Given the description of an element on the screen output the (x, y) to click on. 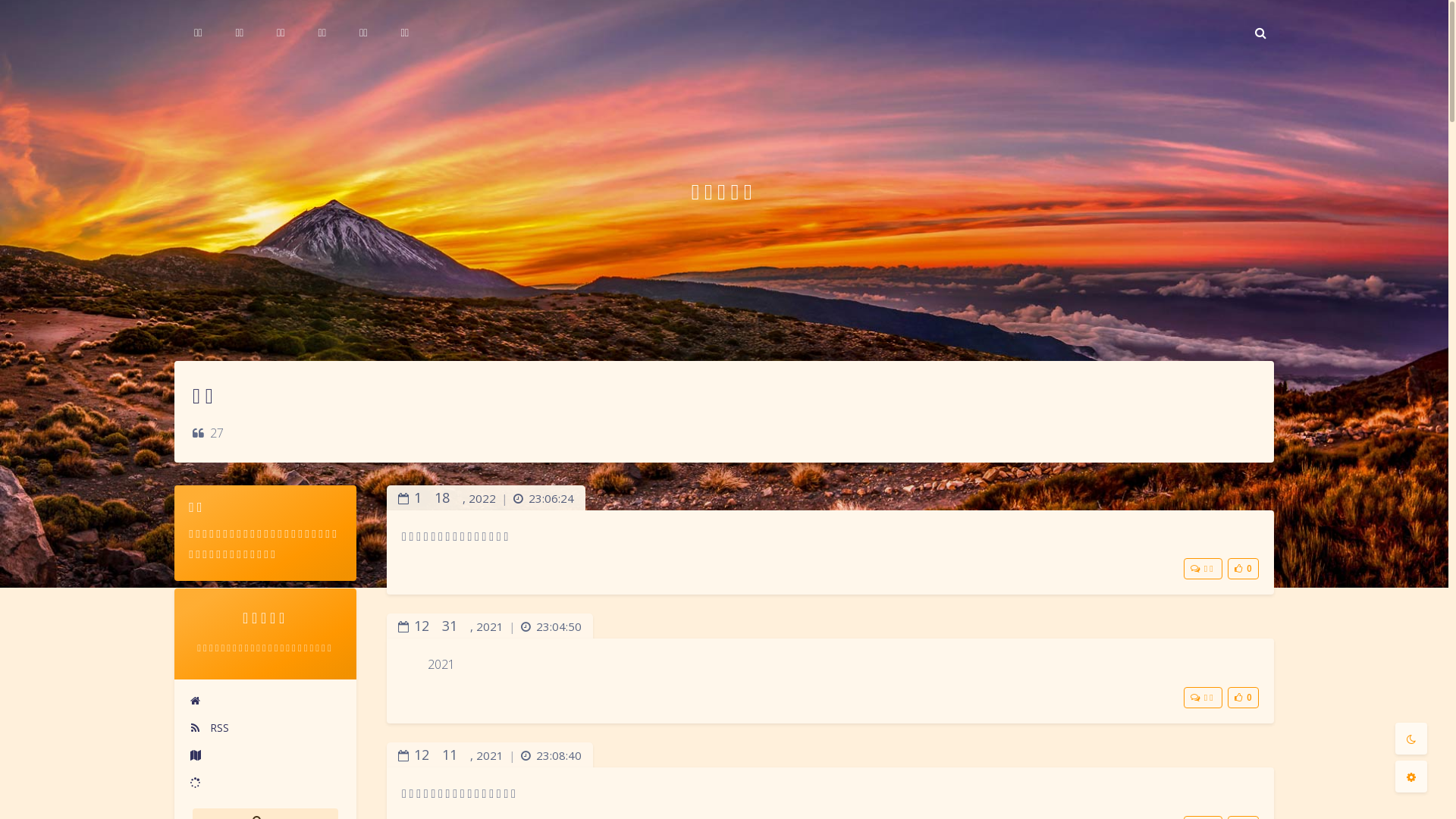
0 Element type: text (1242, 697)
0 Element type: text (1242, 568)
RSS Element type: text (265, 727)
